Given the description of an element on the screen output the (x, y) to click on. 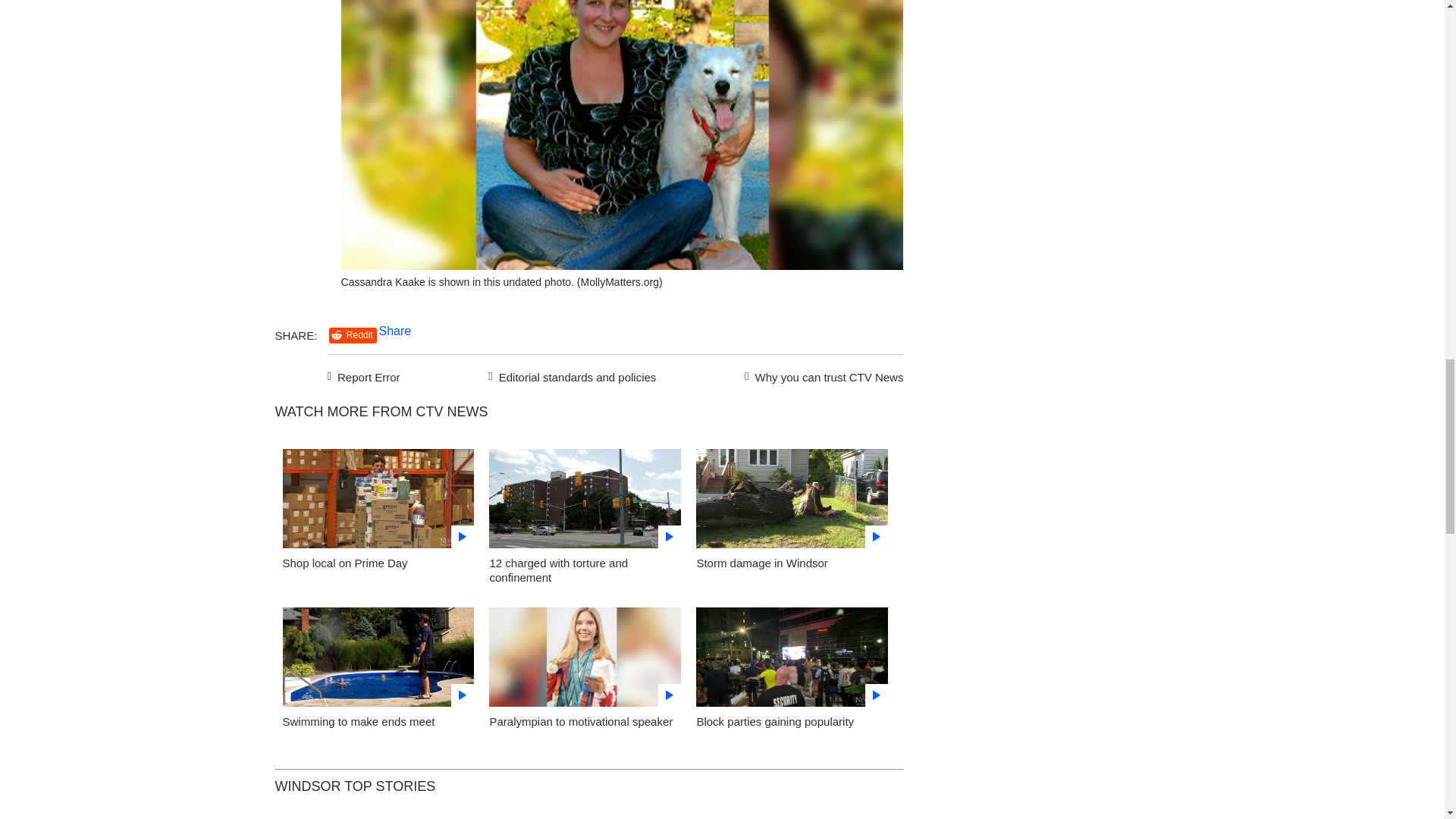
false (585, 656)
Swimming to make ends meet (357, 721)
Paralympian to motivational speaker (580, 721)
Block parties gaining popularity (791, 660)
Storm damage in Windsor (791, 502)
Share (395, 330)
Editorial standards and policies (569, 374)
false (378, 656)
false (378, 497)
Pregnant Cassandra Kaake (622, 264)
Shop local on Prime Day (344, 562)
Report Error (363, 374)
Campo thumbnail (585, 660)
Block parties gaining popularity (774, 721)
false (585, 497)
